Given the description of an element on the screen output the (x, y) to click on. 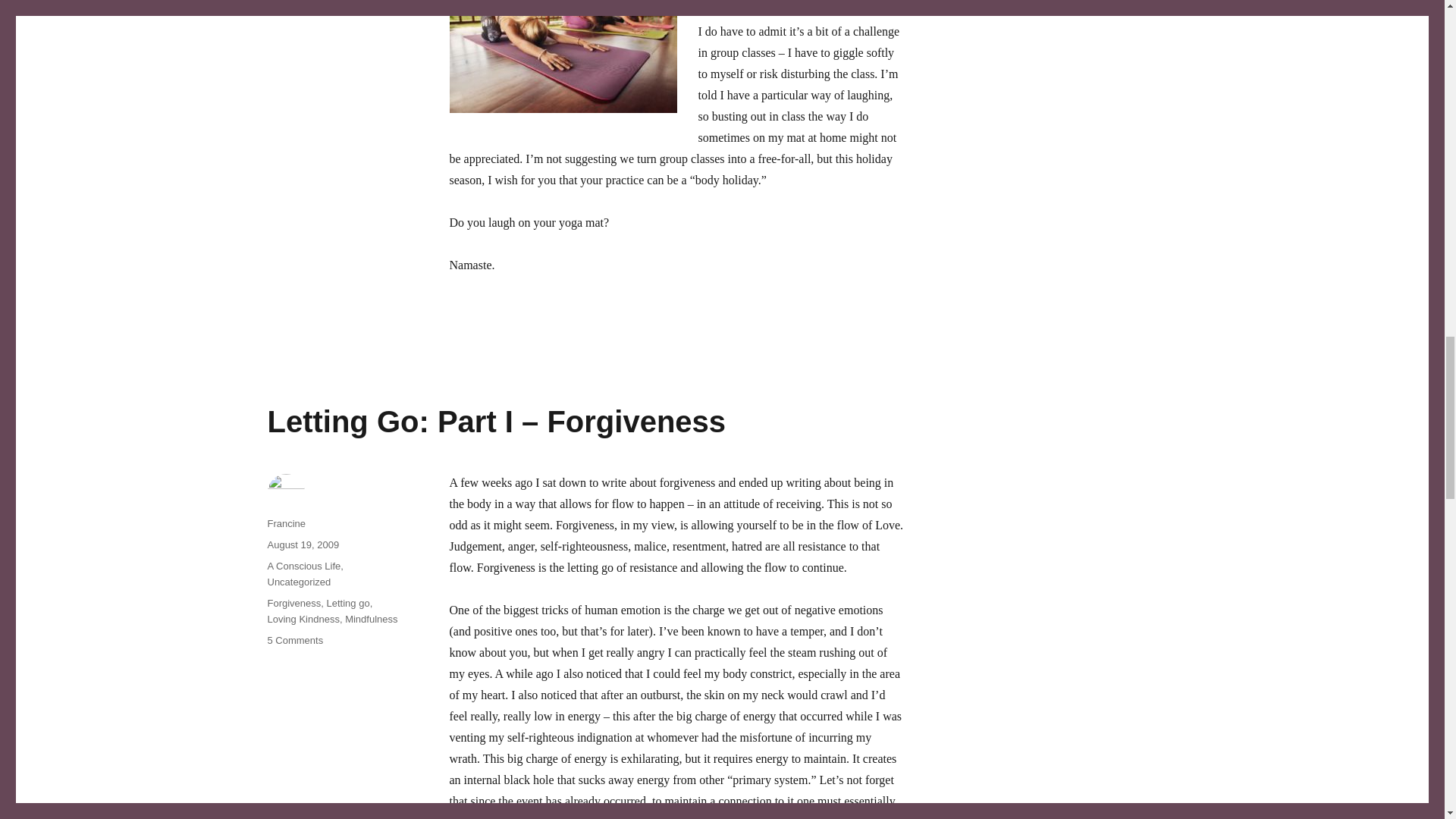
August 19, 2009 (302, 544)
Francine (285, 523)
